Given the description of an element on the screen output the (x, y) to click on. 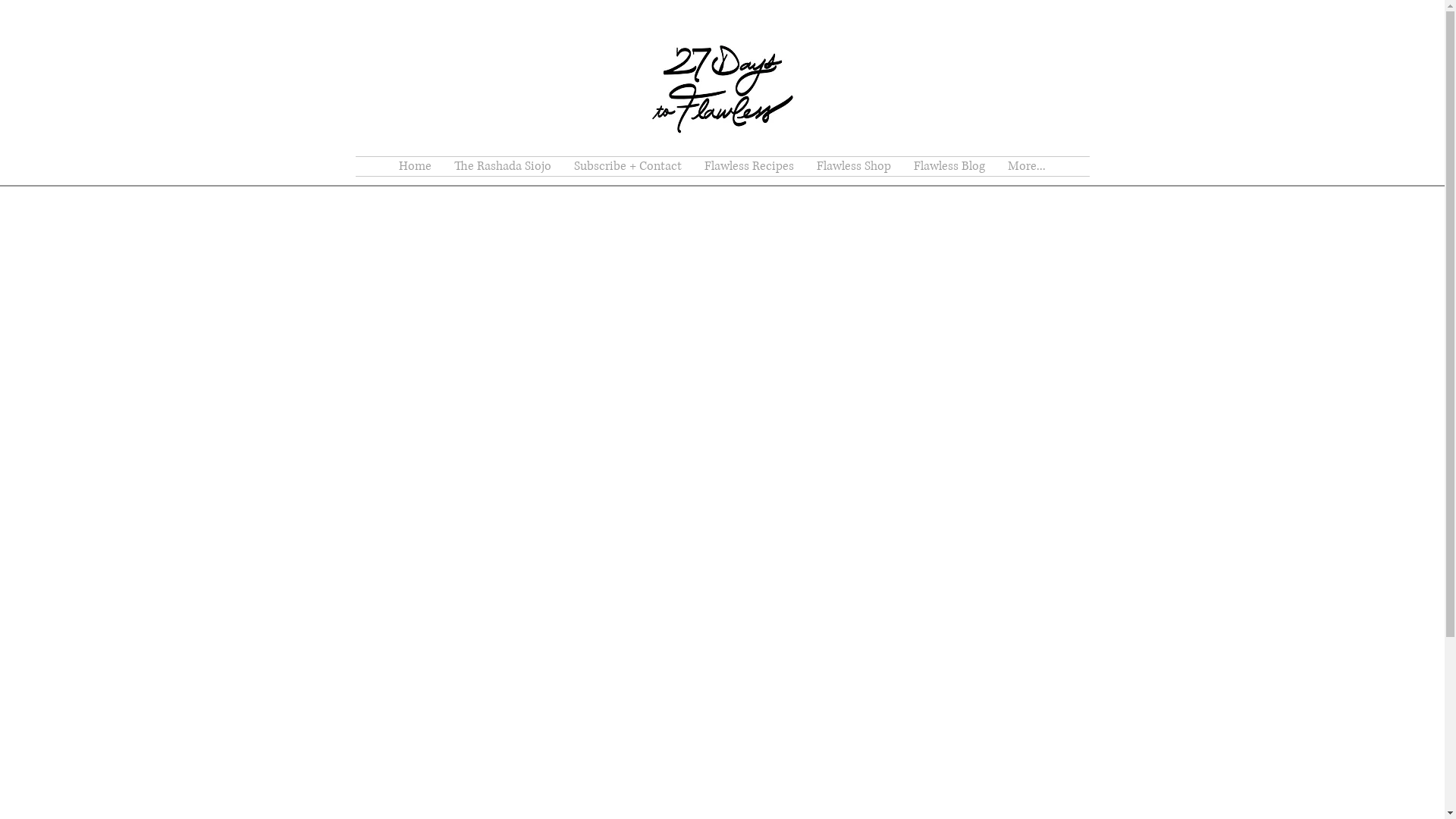
Embedded Content Element type: hover (725, 531)
Flawless Recipes Element type: text (749, 165)
Subscribe + Contact Element type: text (627, 165)
The Rashada Siojo Element type: text (502, 165)
Flawless Blog Element type: text (949, 165)
Home Element type: text (414, 165)
Flawless Shop Element type: text (853, 165)
